Given the description of an element on the screen output the (x, y) to click on. 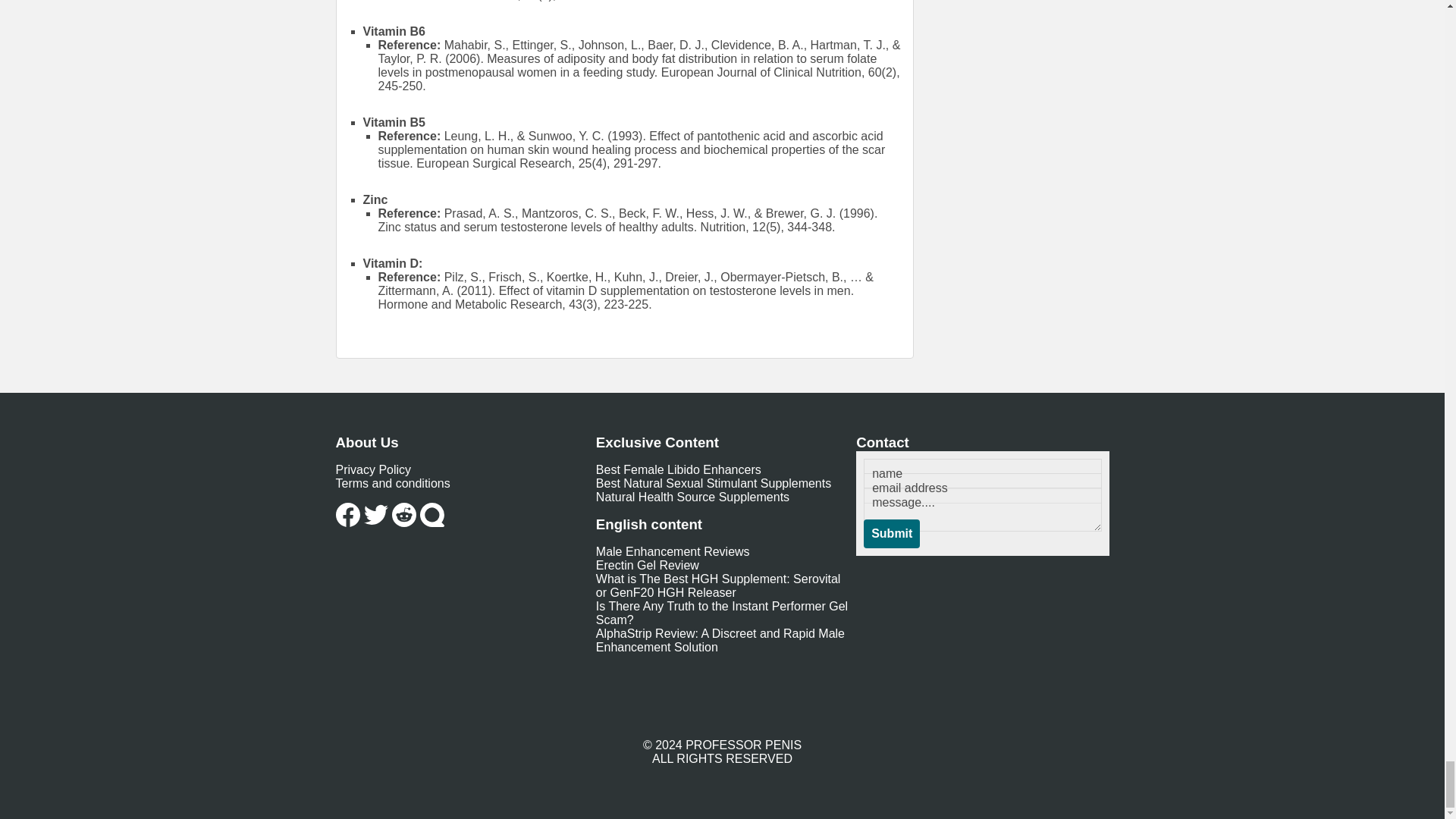
Facebook (346, 514)
Twitter (376, 514)
Reddit (402, 514)
Quora (432, 514)
